Given the description of an element on the screen output the (x, y) to click on. 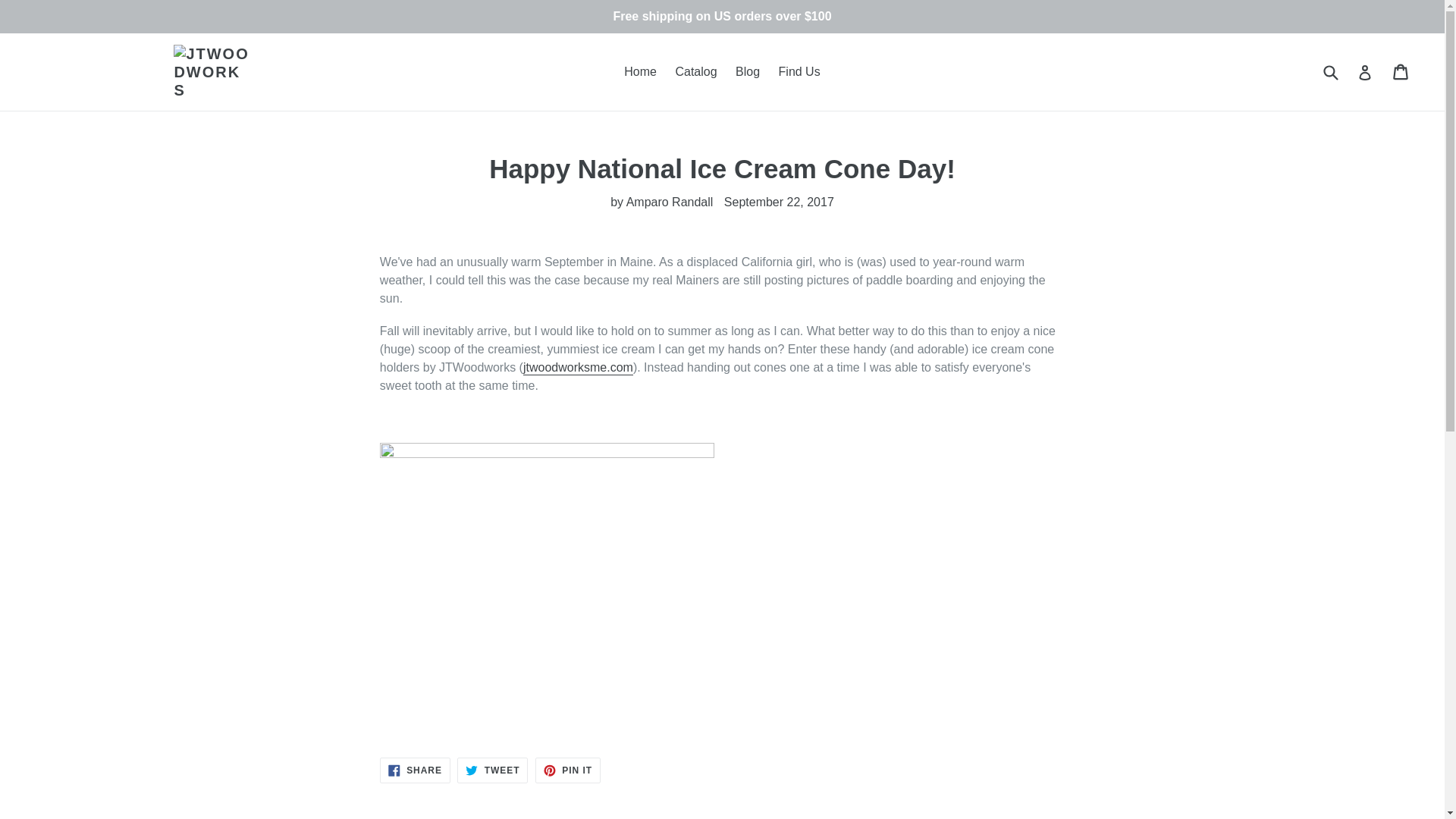
Pin on Pinterest (567, 769)
Find Us (799, 71)
jtwoodworksme.com (577, 368)
Share on Facebook (414, 769)
Catalog (492, 769)
Tweet on Twitter (414, 769)
Home (567, 769)
